Given the description of an element on the screen output the (x, y) to click on. 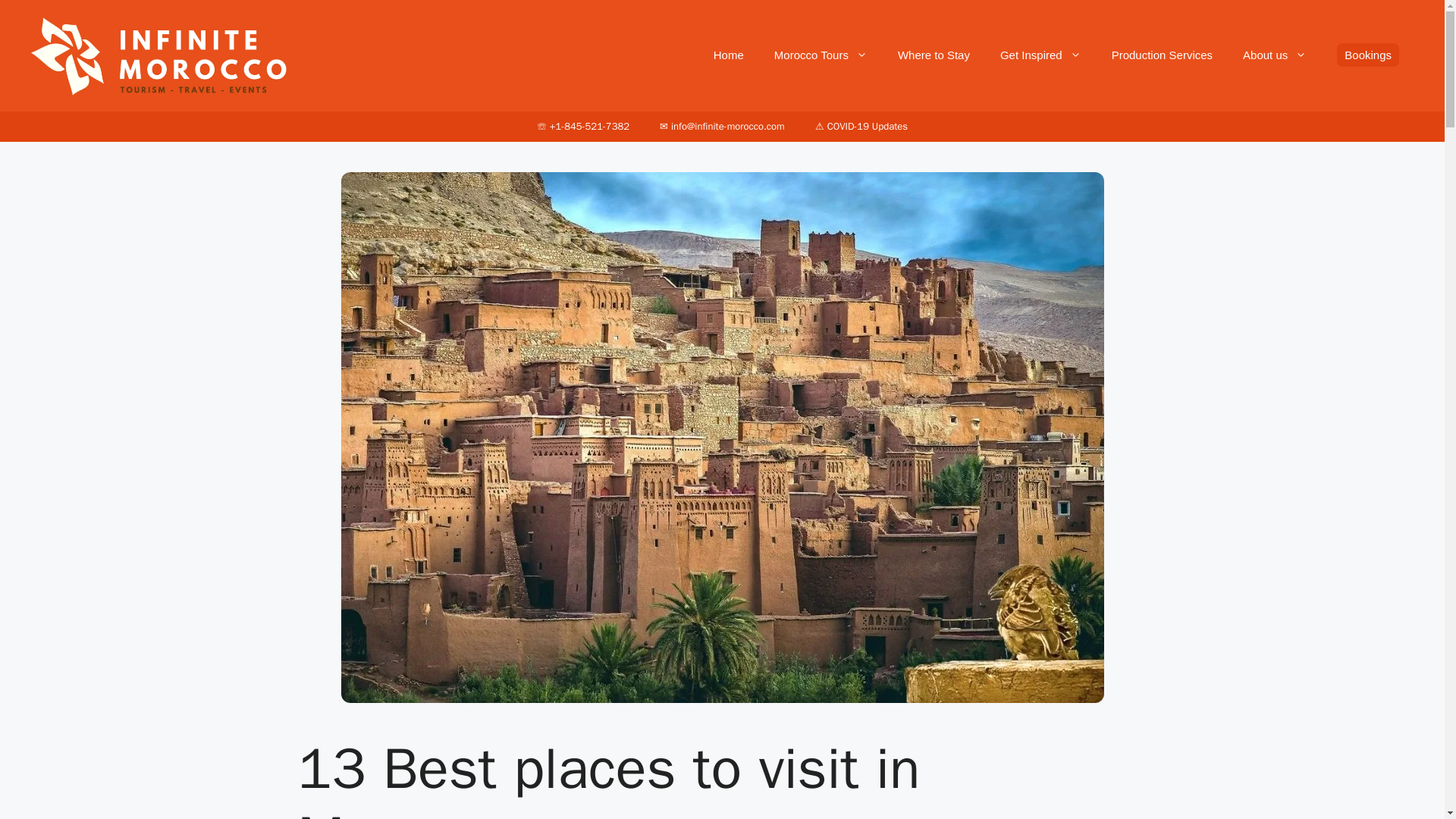
Production Services (1161, 54)
Morocco Tours (820, 54)
Bookings (1367, 54)
Home (728, 54)
Where to Stay (933, 54)
Best places to visit in Morocco (1040, 54)
Morocco Tours (820, 54)
Get Inspired (1040, 54)
About us (1274, 54)
